Given the description of an element on the screen output the (x, y) to click on. 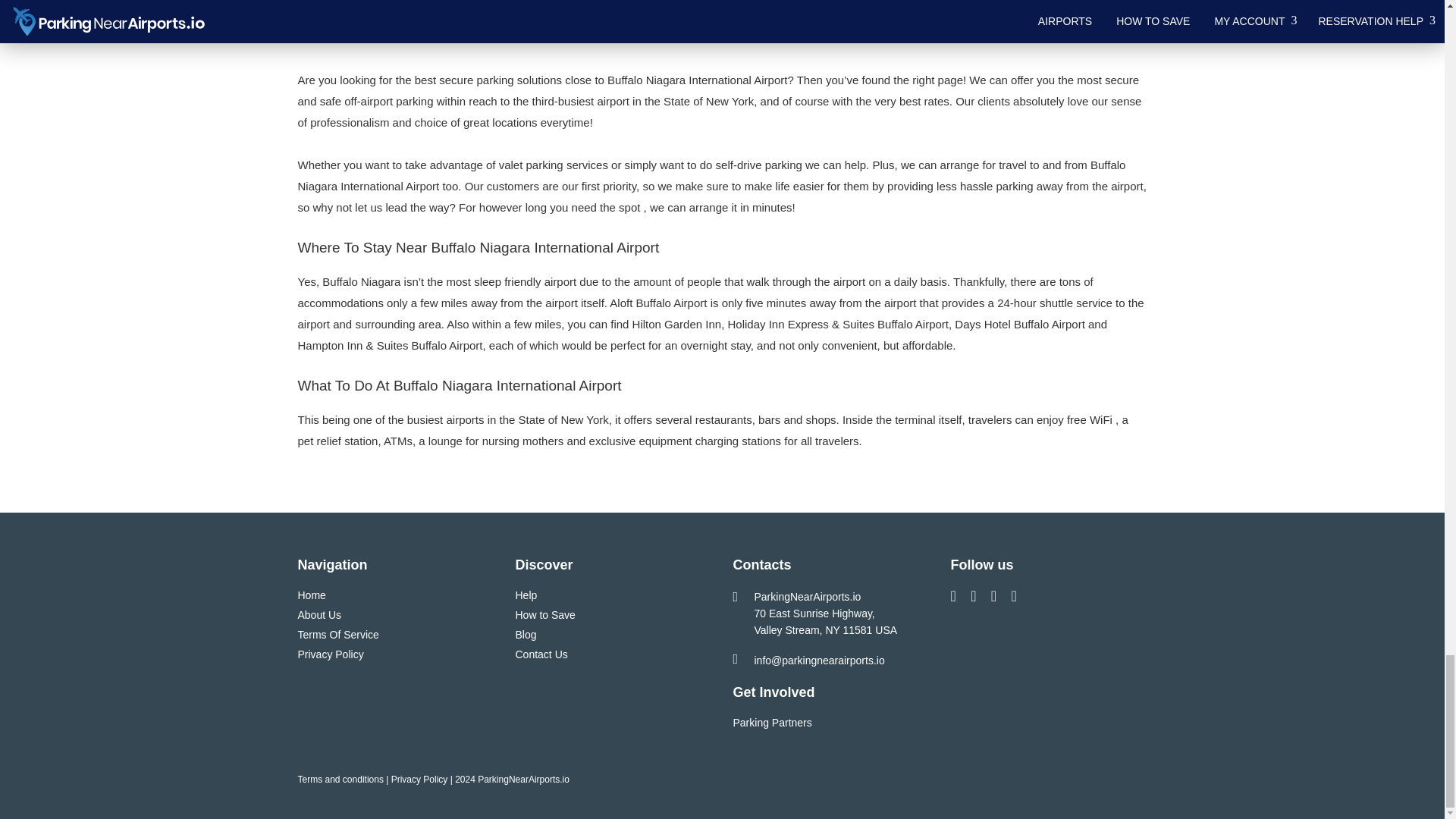
Home (310, 594)
Terms Of Service (337, 634)
Privacy Policy (329, 654)
About Us (318, 614)
